Given the description of an element on the screen output the (x, y) to click on. 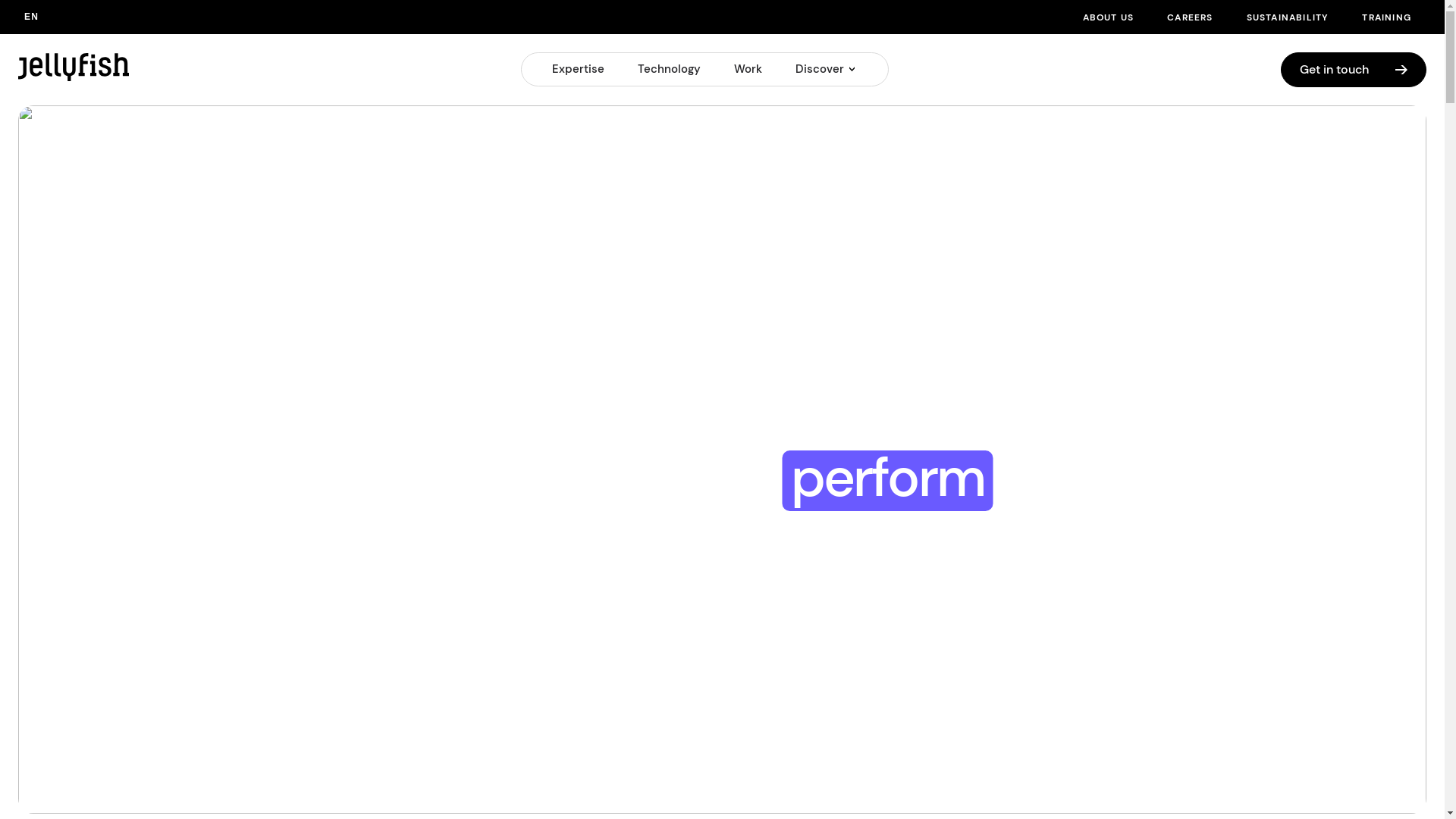
Expertise Element type: text (578, 68)
Show submenu for Discover
> Element type: text (853, 68)
Discover Element type: text (819, 68)
ABOUT US Element type: text (1108, 18)
Technology Element type: text (668, 68)
Get in touch Element type: text (1353, 69)
SUSTAINABILITY Element type: text (1287, 18)
TRAINING Element type: text (1386, 18)
EN Element type: text (31, 16)
CAREERS Element type: text (1189, 18)
Work Element type: text (748, 68)
